Given the description of an element on the screen output the (x, y) to click on. 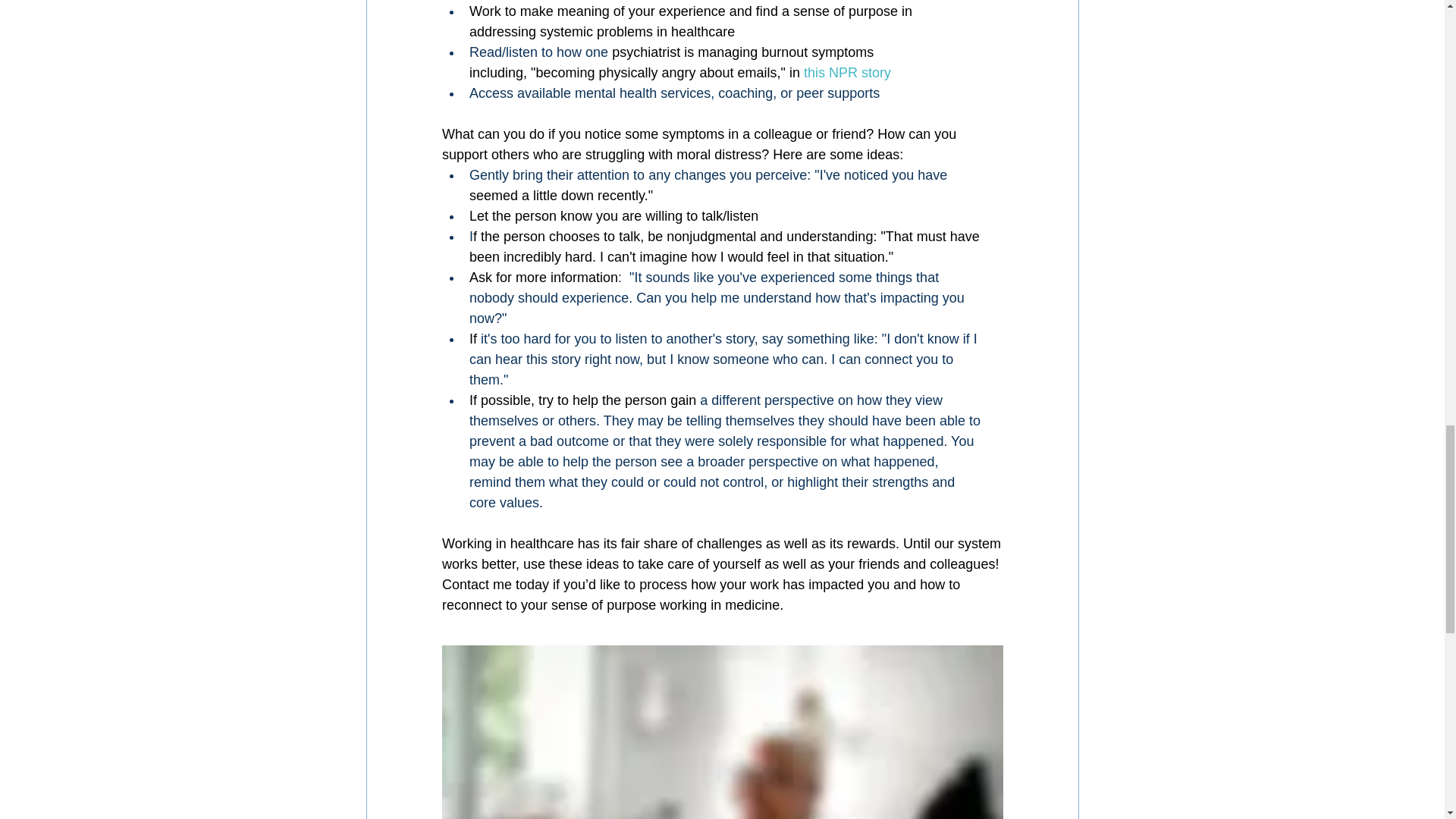
this NPR story (847, 72)
